Given the description of an element on the screen output the (x, y) to click on. 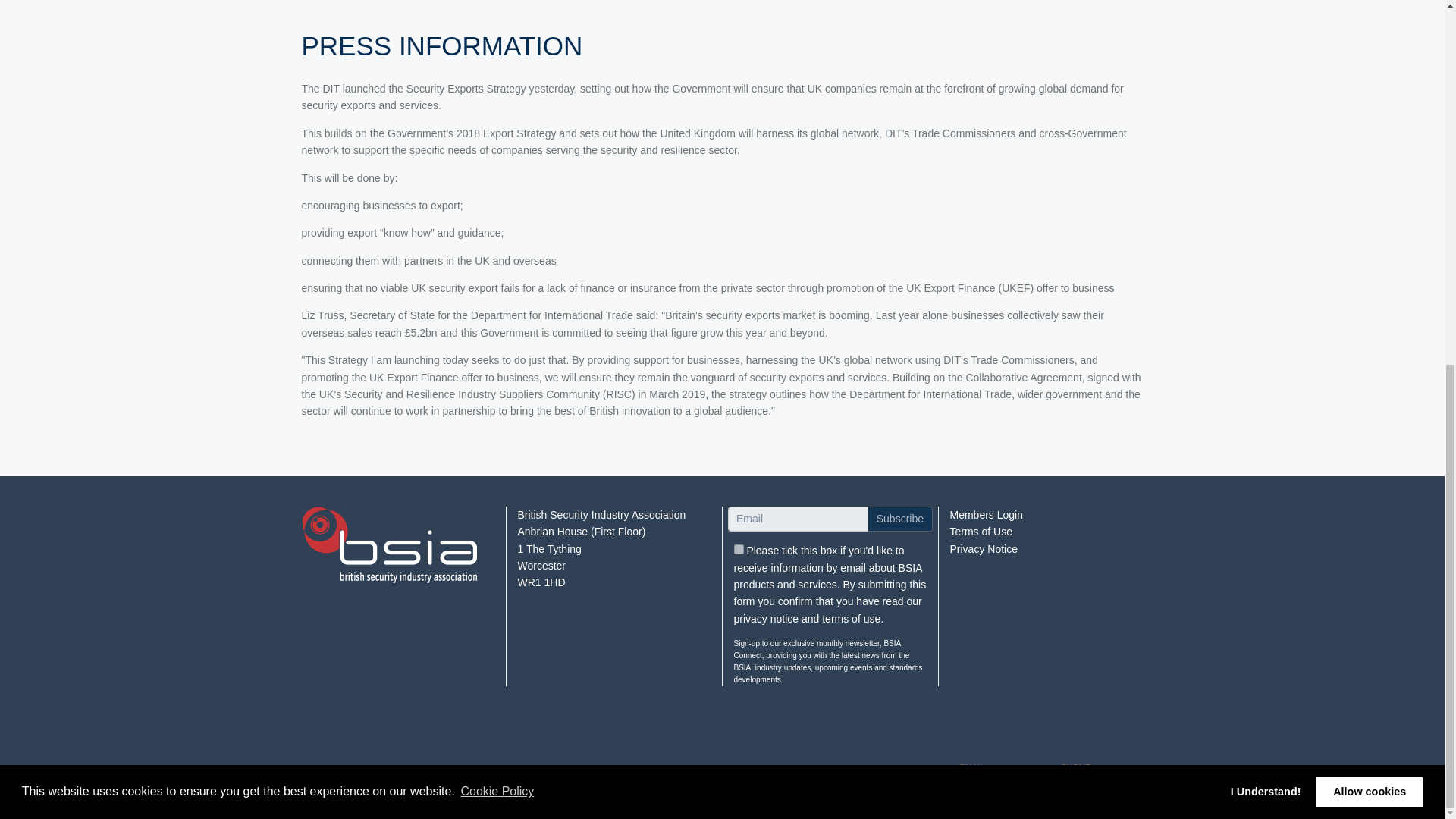
Allow cookies (1369, 137)
Cookie Policy (496, 137)
I Understand! (1265, 137)
1 (738, 549)
